Given the description of an element on the screen output the (x, y) to click on. 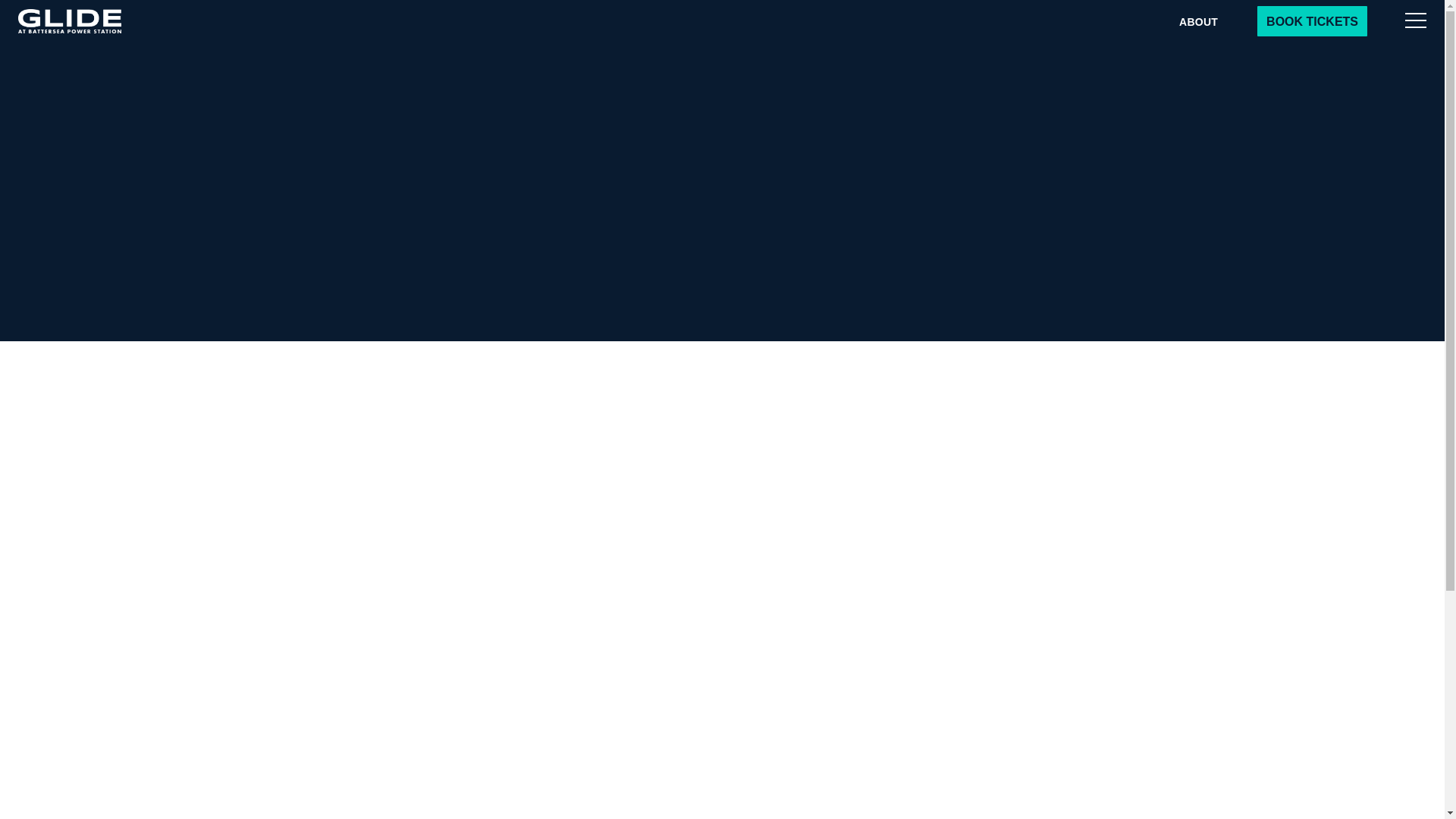
HERE (246, 8)
HERE (1070, 8)
HERE (657, 8)
